Given the description of an element on the screen output the (x, y) to click on. 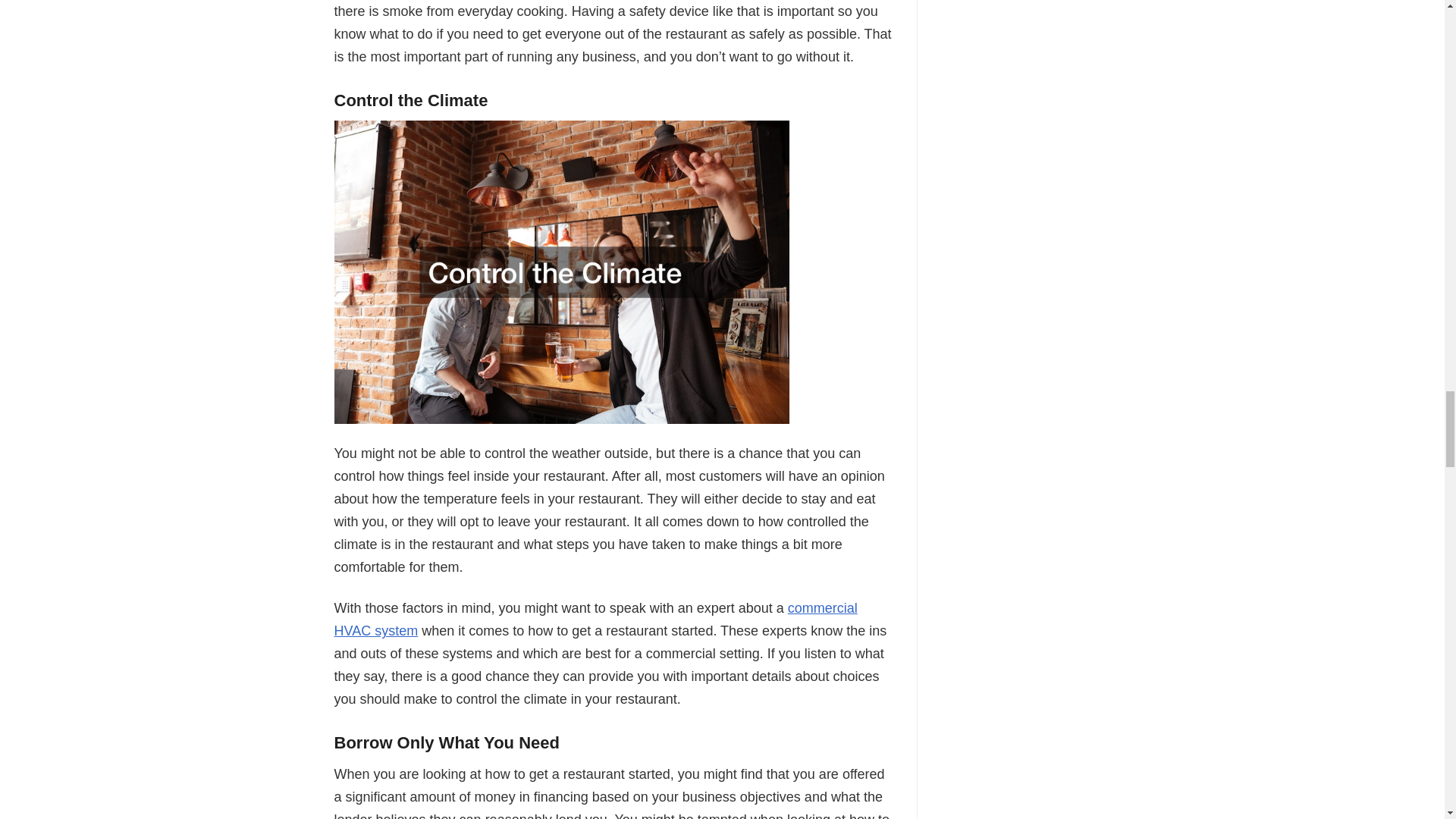
commercial HVAC system (595, 619)
